Given the description of an element on the screen output the (x, y) to click on. 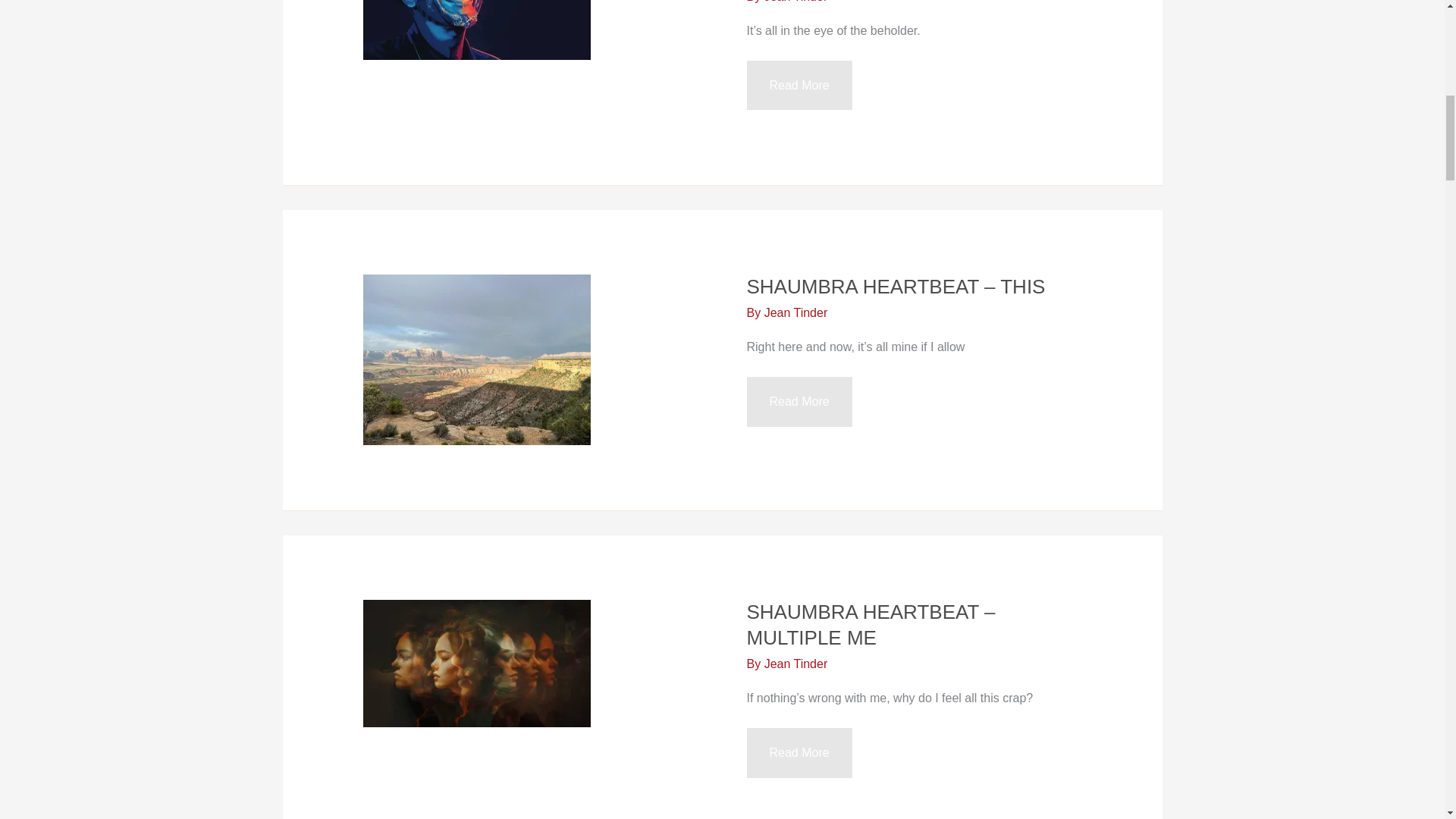
View all posts by Jean Tinder (796, 663)
Jean Tinder (796, 312)
View all posts by Jean Tinder (796, 312)
Jean Tinder (796, 1)
View all posts by Jean Tinder (796, 1)
Jean Tinder (796, 663)
